Given the description of an element on the screen output the (x, y) to click on. 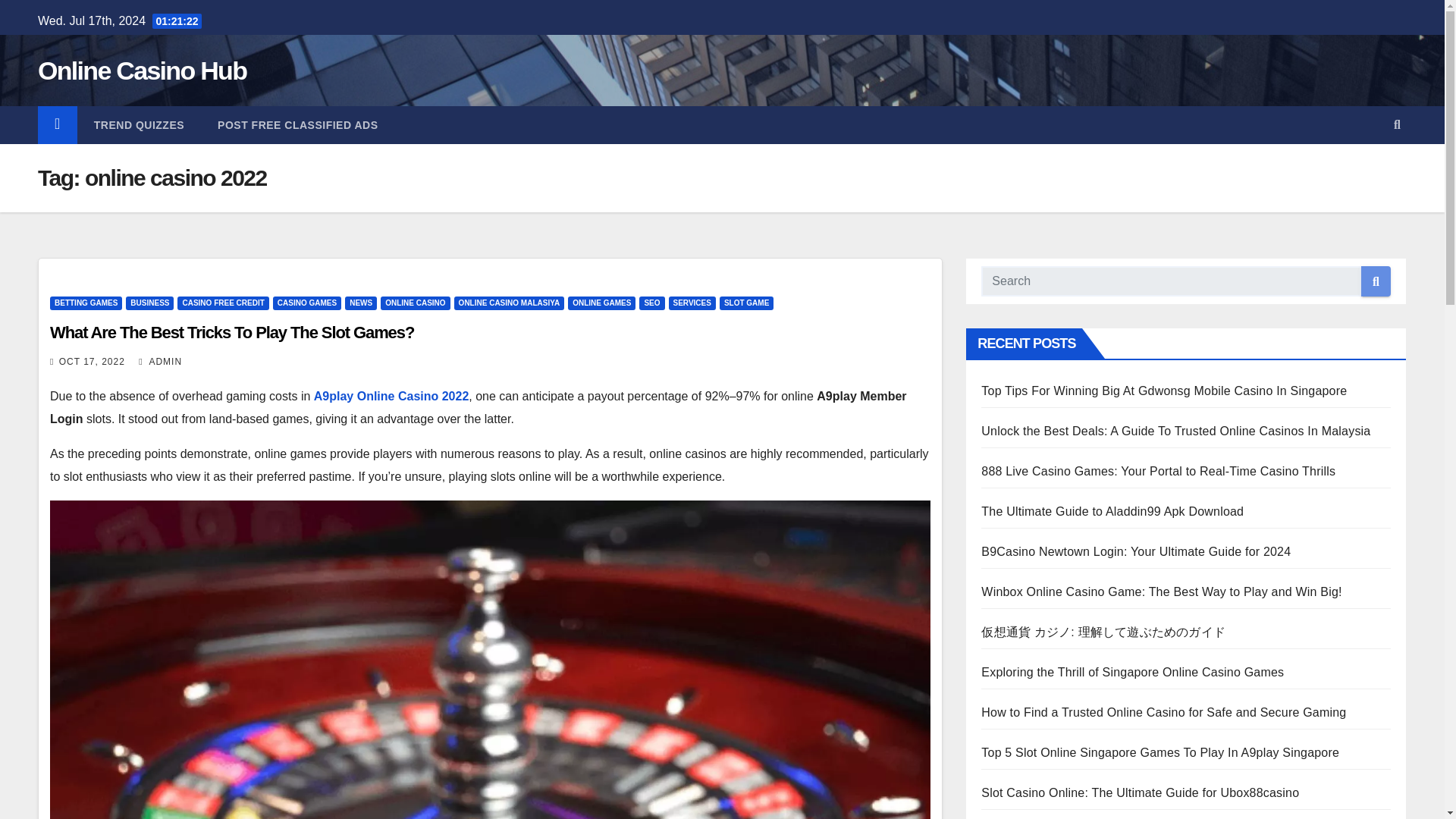
CASINO FREE CREDIT (222, 303)
SEO (651, 303)
SLOT GAME (746, 303)
POST FREE CLASSIFIED ADS (297, 125)
Online Casino Hub (141, 70)
Trend Quizzes (138, 125)
What Are The Best Tricks To Play The Slot Games? (231, 332)
ONLINE CASINO MALASIYA (509, 303)
ONLINE CASINO (414, 303)
BETTING GAMES (85, 303)
Slot Casino Online: The Ultimate Guide for Ubox88casino (1139, 792)
Exploring the Thrill of Singapore Online Casino Games (1132, 671)
NEWS (361, 303)
